Given the description of an element on the screen output the (x, y) to click on. 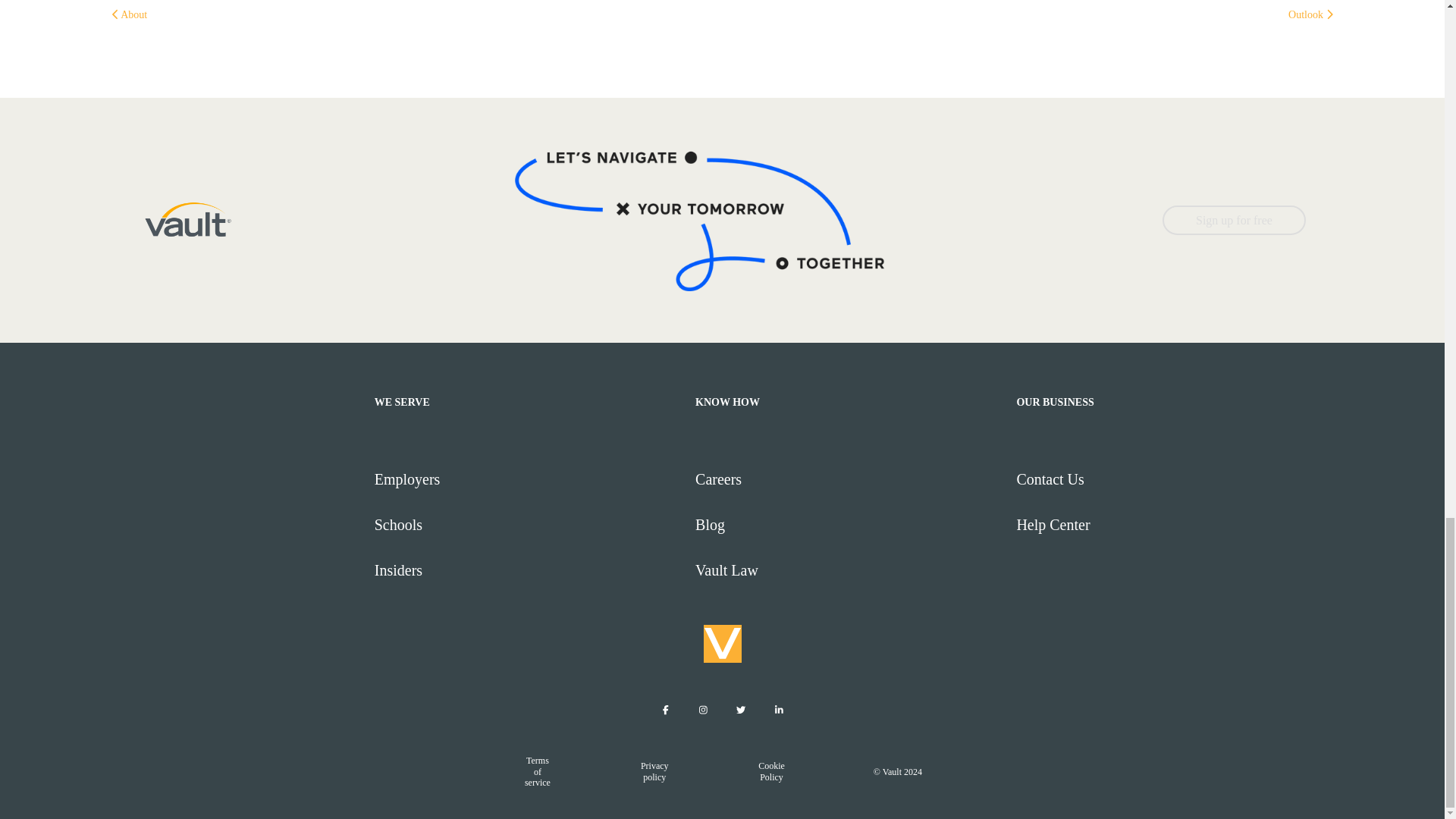
Blog (849, 524)
Help Center (1170, 524)
Schools (528, 524)
Contact Us (1170, 478)
Employers (528, 478)
Insiders (528, 570)
Sign up for free (1233, 220)
Outlook (1310, 14)
Vault Law (849, 570)
About (129, 14)
